Given the description of an element on the screen output the (x, y) to click on. 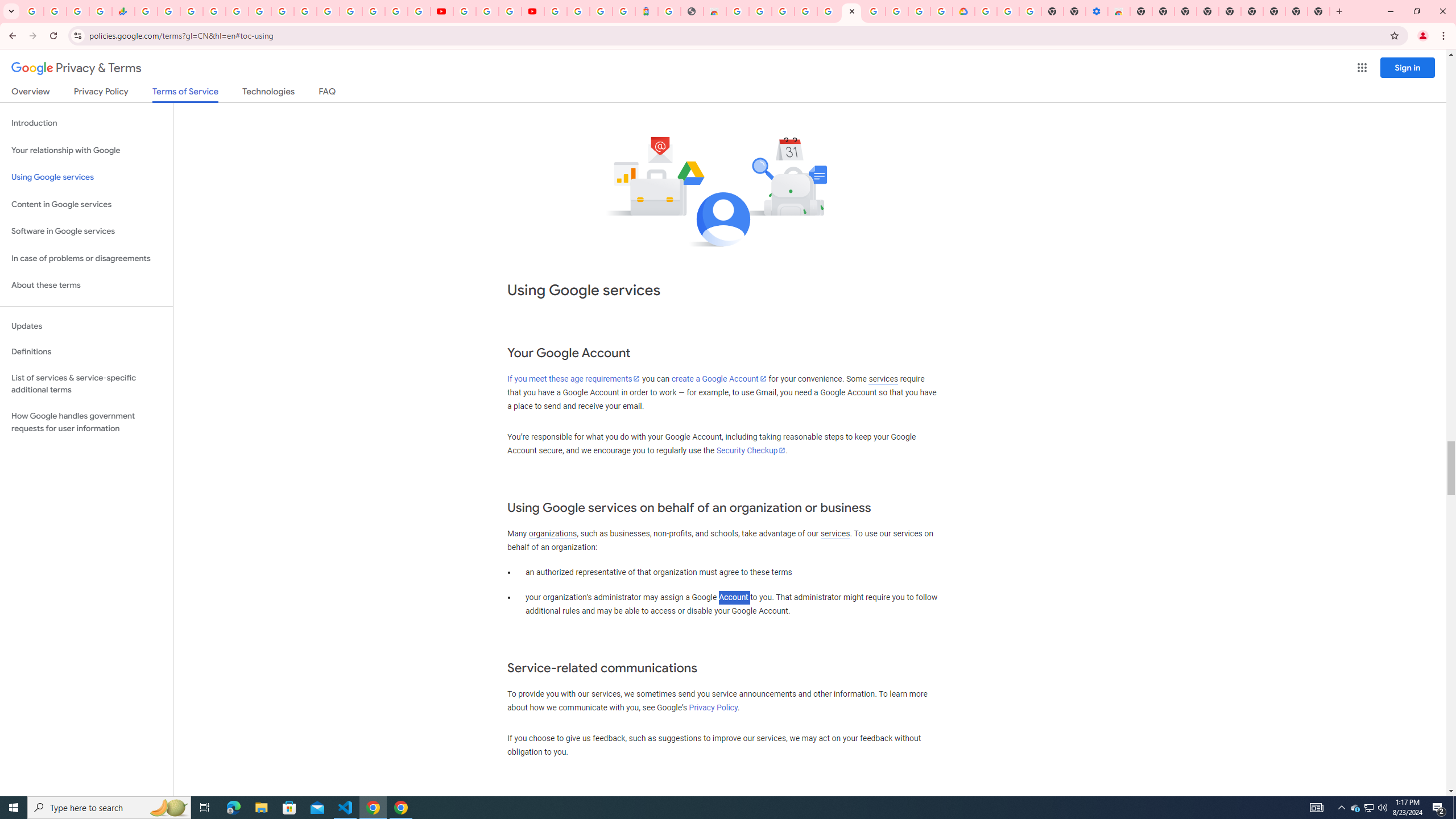
Sign in - Google Accounts (578, 11)
If you meet these age requirements (573, 378)
Overview (30, 93)
Privacy Checkup (419, 11)
Create your Google Account (510, 11)
Chrome Web Store - Accessibility extensions (1118, 11)
Using Google services (86, 176)
Privacy Policy (713, 707)
